Given the description of an element on the screen output the (x, y) to click on. 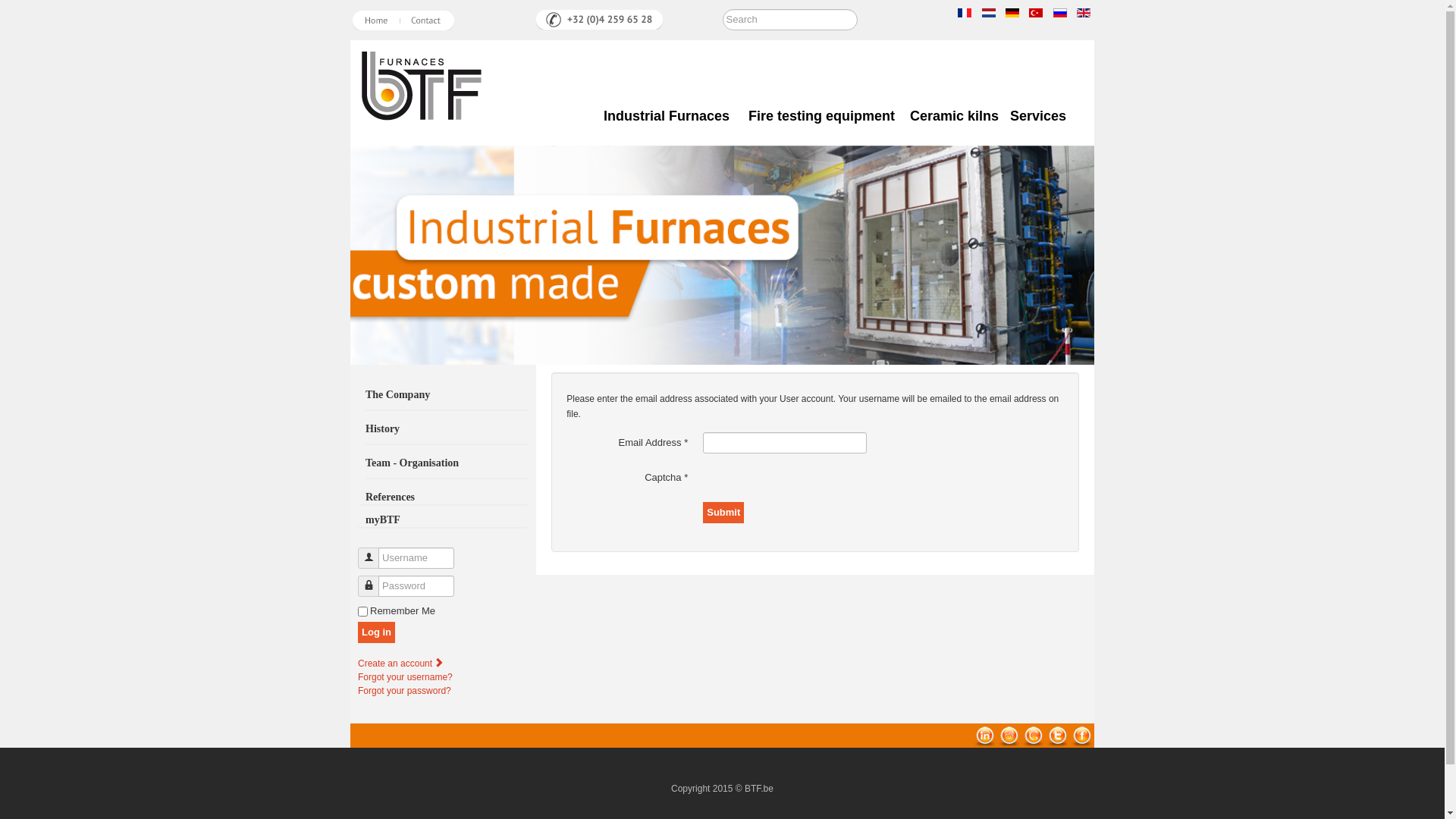
History Element type: text (446, 431)
Twitter Element type: hover (1057, 735)
Industrial Furnaces Element type: text (670, 116)
The Company Element type: text (446, 398)
Create an account Element type: text (401, 663)
Forgot your username? Element type: text (404, 676)
Francais Element type: hover (964, 12)
Russian Element type: hover (1059, 12)
Ceramic kilns Element type: text (954, 116)
Submit Element type: text (722, 512)
Services Element type: text (1041, 116)
Fire testing equipment Element type: text (821, 116)
Log in Element type: text (376, 632)
Facebook Element type: hover (1082, 735)
Google Bookmarks Element type: hover (1033, 735)
English (UK) Element type: hover (1083, 12)
Netherlands Element type: hover (988, 12)
Forgot your password? Element type: text (404, 690)
German Element type: hover (1012, 12)
linkedin Element type: hover (984, 735)
Team - Organisation Element type: text (446, 466)
reddit Element type: hover (1009, 735)
myBTF Element type: text (442, 515)
References Element type: text (442, 496)
